Given the description of an element on the screen output the (x, y) to click on. 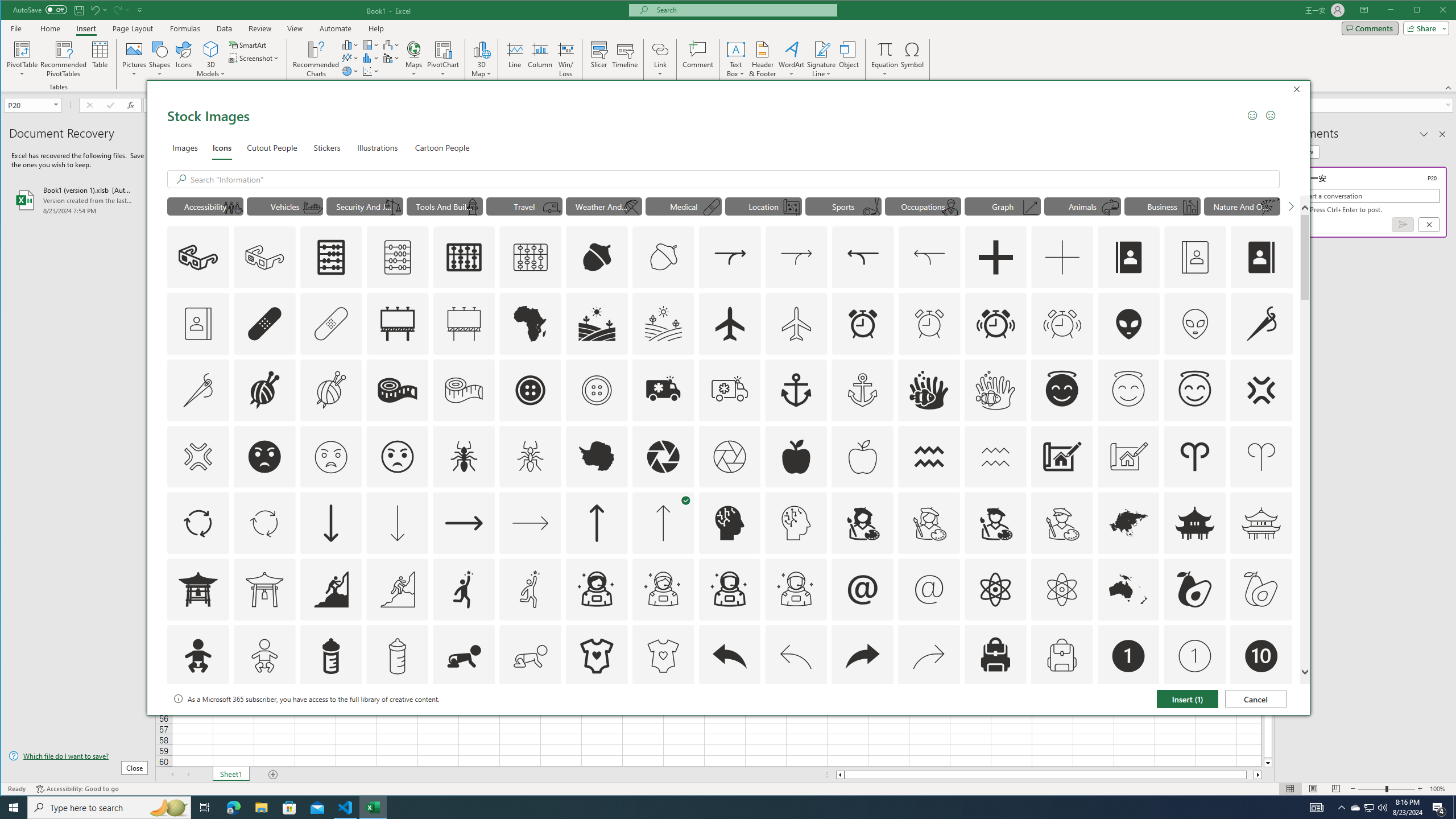
Insert Line or Area Chart (350, 57)
3D Models (211, 59)
AutomationID: Icons_TreasureMap_M (791, 207)
AutomationID: Icons_Aspiration_M (397, 589)
AutomationID: Icons_Badge7_M (995, 721)
PivotTable (22, 48)
AutomationID: Icons_Badge3_M (464, 721)
AutomationID: Icons_Badge5 (663, 721)
AutomationID: Icons_AngelFace_M (1128, 389)
AutomationID: Icons_AddressBook_RTL (1261, 256)
AutomationID: Icons_Apple (796, 456)
AutomationID: Icons_AngelFace (1061, 389)
AutomationID: Icons_ArtistMale (995, 522)
